Given the description of an element on the screen output the (x, y) to click on. 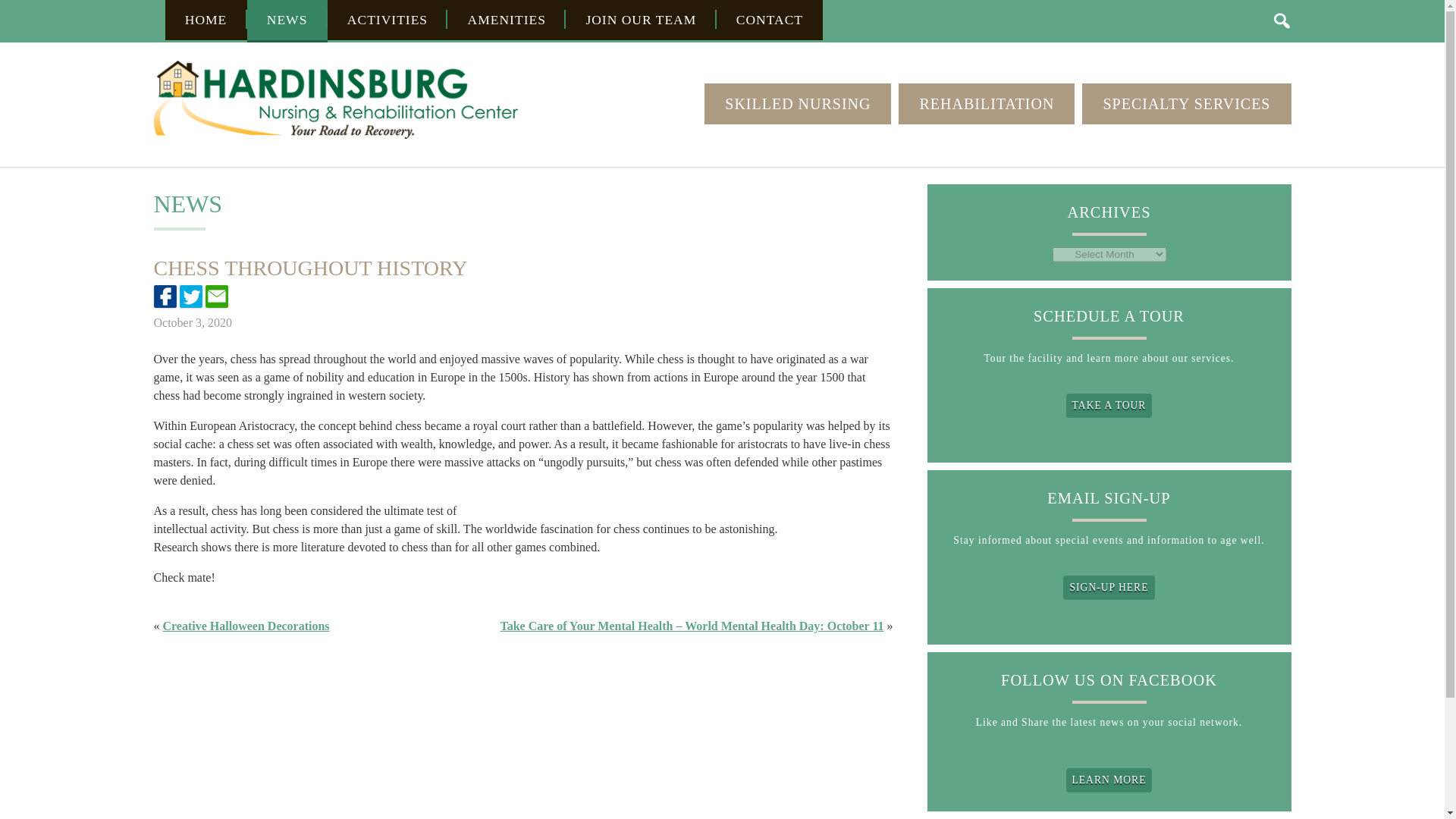
SIGN-UP HERE (1108, 587)
CONTACT (770, 20)
TAKE A TOUR (1109, 405)
SKILLED NURSING (797, 103)
ACTIVITIES (387, 20)
NEWS (287, 21)
LEARN MORE (1109, 780)
Search (1281, 20)
HOME (206, 20)
AMENITIES (506, 20)
